Given the description of an element on the screen output the (x, y) to click on. 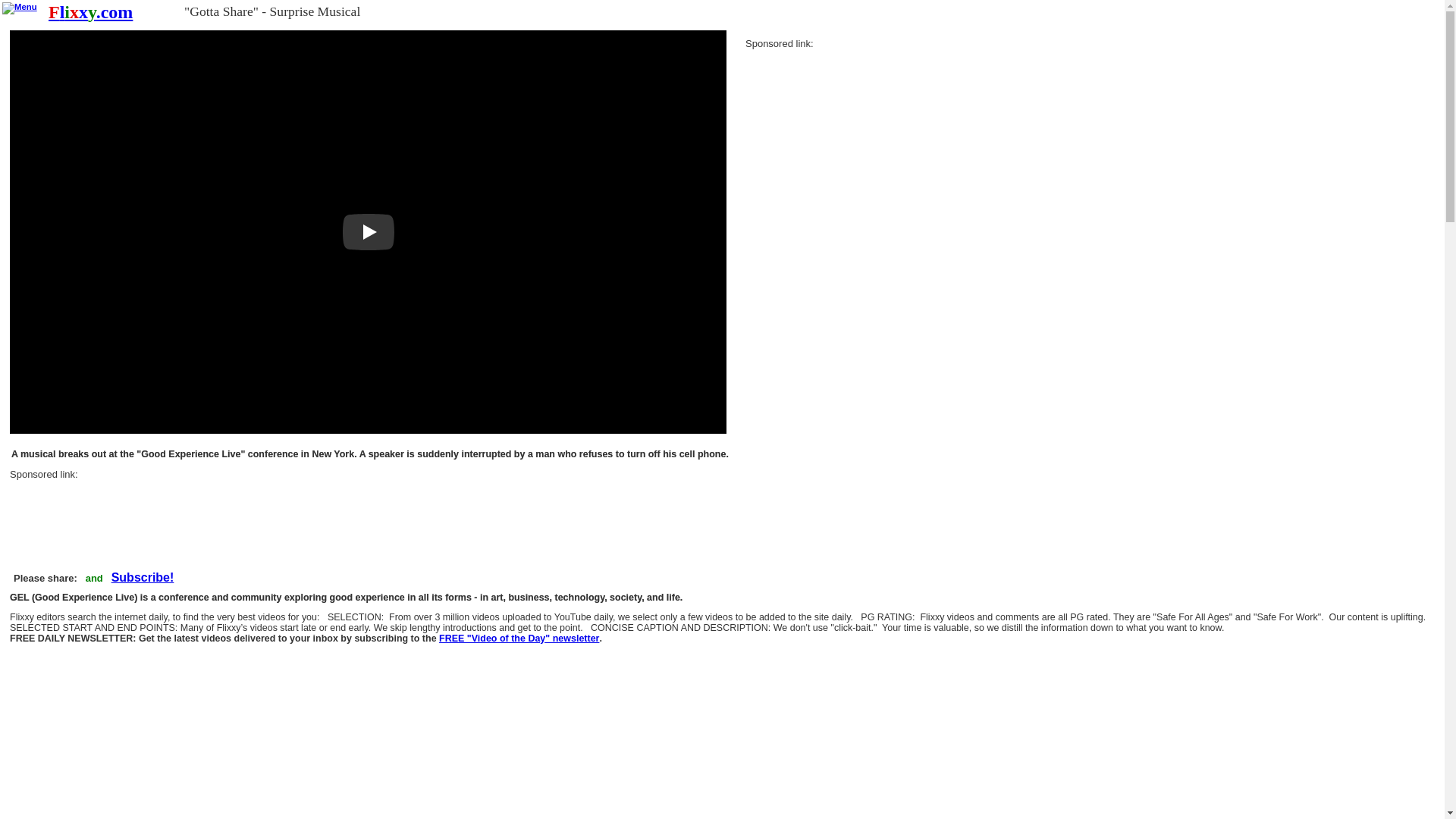
300x250 (858, 139)
FREE "Video of the Day" newsletter (518, 638)
Home (89, 12)
Menu (19, 8)
FREE Newsletter (143, 578)
Subscribe! (143, 578)
Play (368, 231)
Subscribe! (518, 638)
Flixxy.com (89, 12)
